Given the description of an element on the screen output the (x, y) to click on. 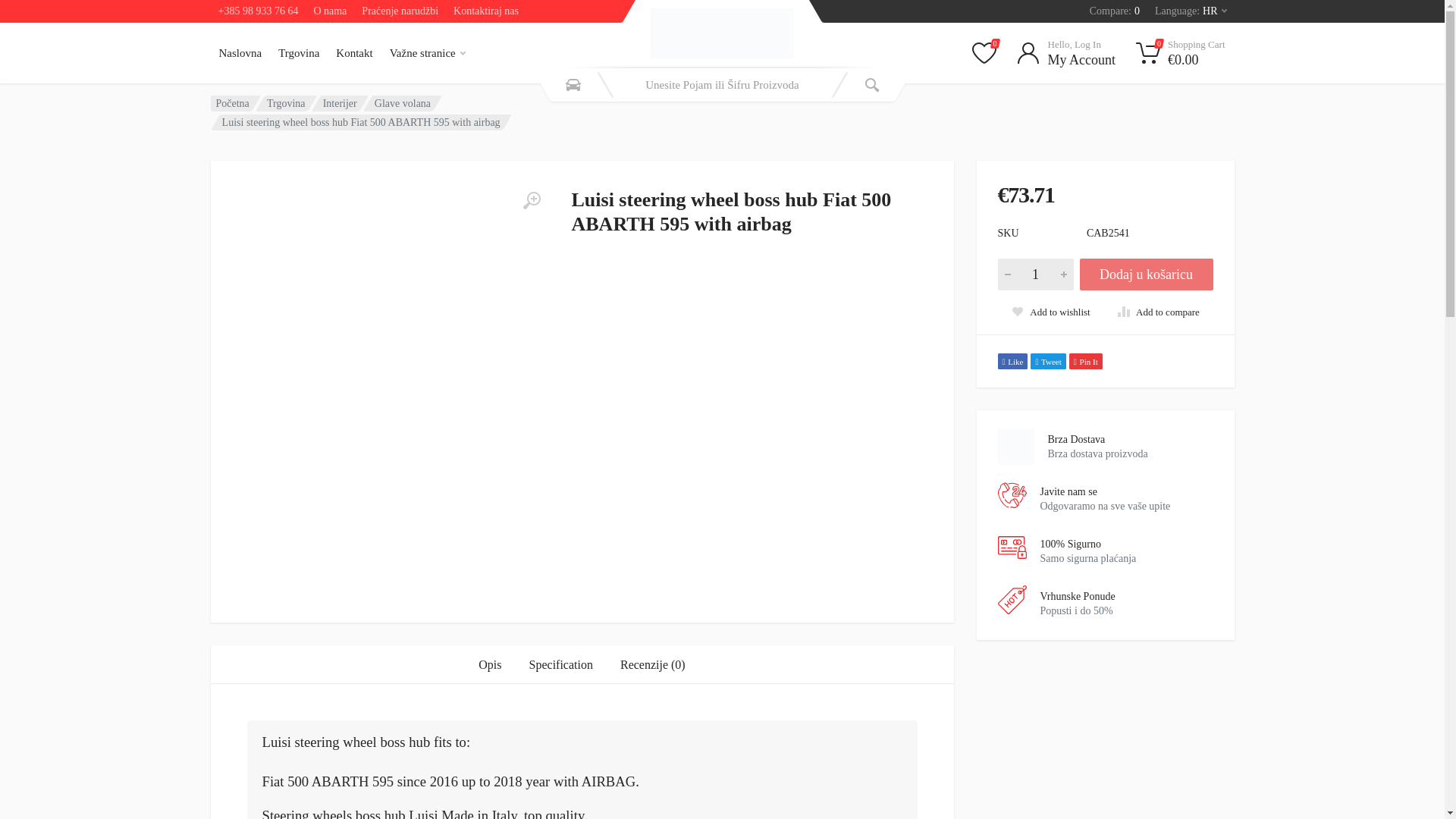
0 (1066, 52)
Interijer (983, 52)
O nama (339, 102)
Kontaktiraj nas (329, 11)
Glave volana (485, 11)
Naslovna (1190, 11)
Trgovina (402, 102)
Qty (240, 53)
